Given the description of an element on the screen output the (x, y) to click on. 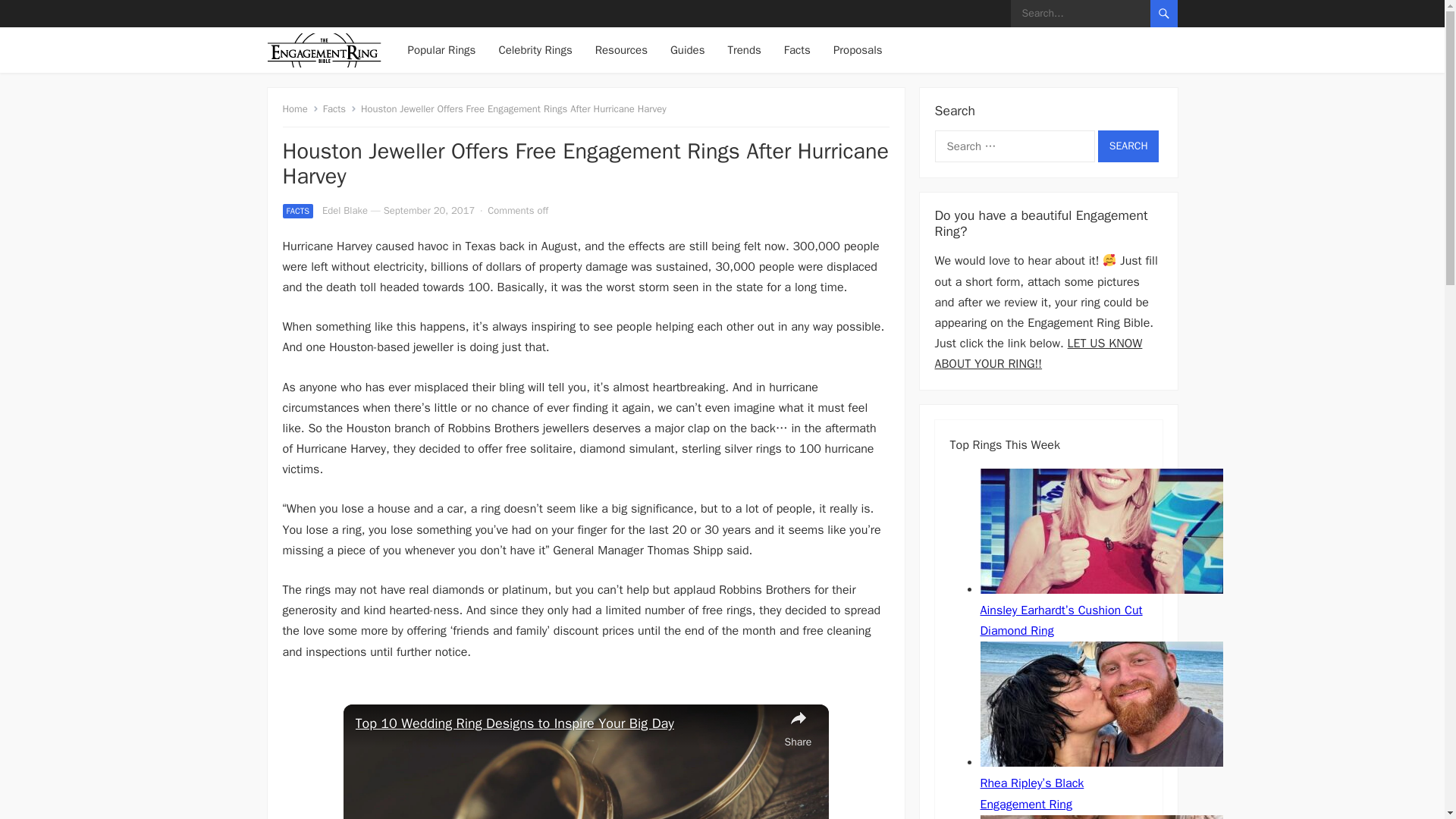
Popular Rings (441, 49)
Facts (339, 108)
Search (1127, 146)
FACTS (297, 210)
Resources (621, 49)
Proposals (857, 49)
Edel Blake (344, 210)
Celebrity Rings (534, 49)
Top 10 Wedding Ring Designs to Inspire Your Big Day (565, 723)
Posts by Edel Blake (344, 210)
Home (299, 108)
Search (1127, 146)
